Given the description of an element on the screen output the (x, y) to click on. 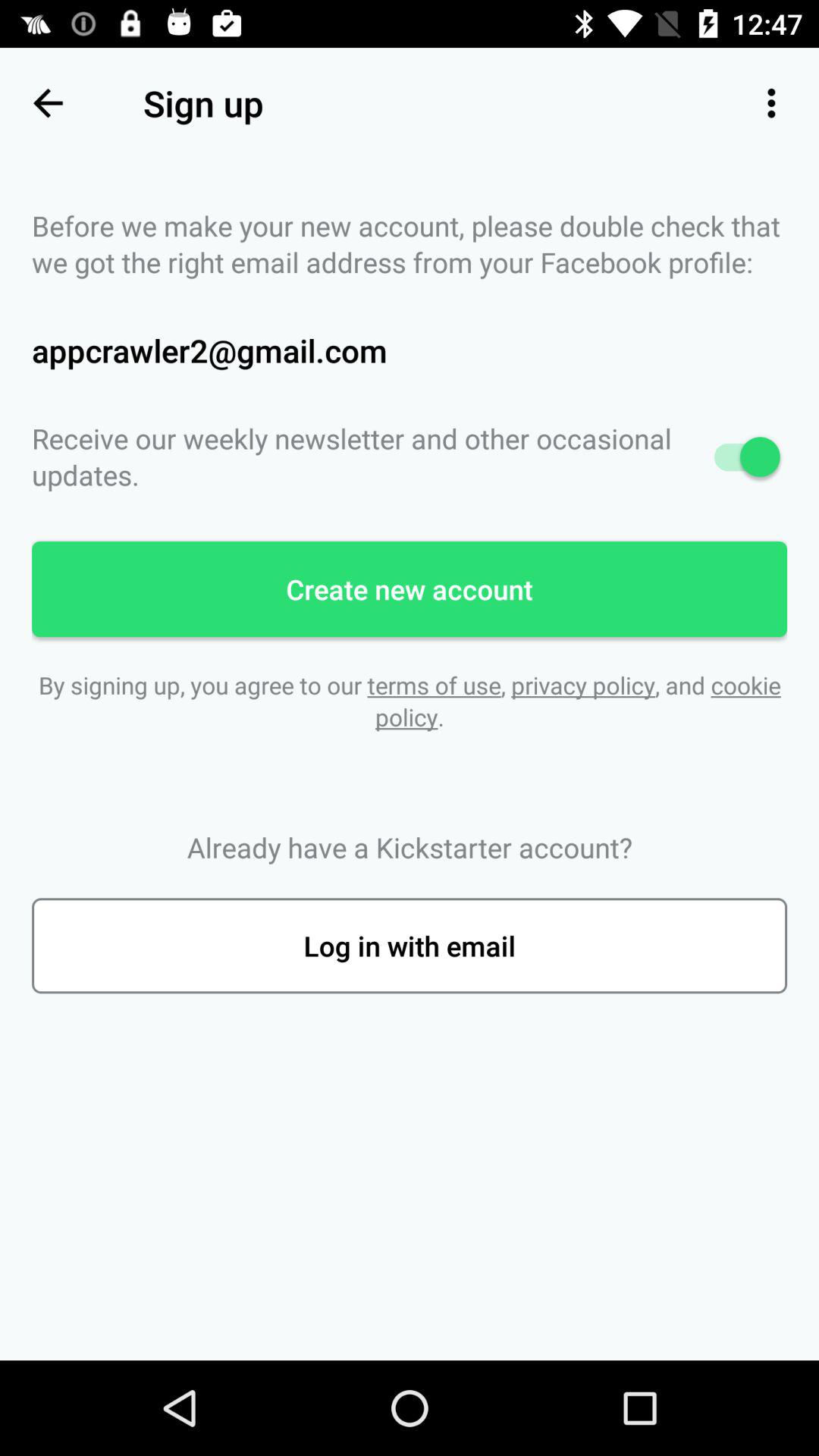
turn on icon above already have a (409, 700)
